Given the description of an element on the screen output the (x, y) to click on. 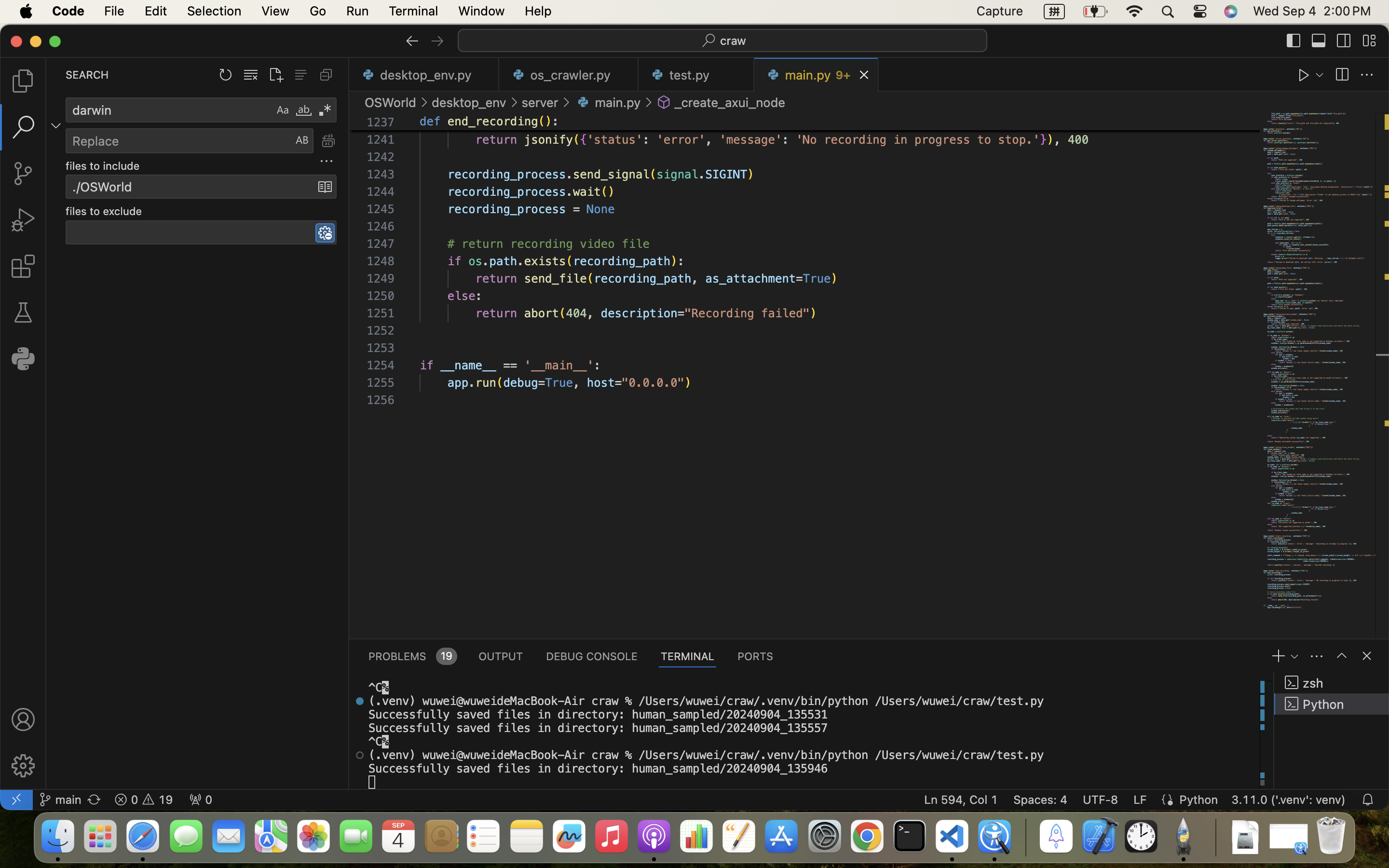
 Element type: AXButton (1369, 40)
 Element type: AXButton (1341, 74)
 Element type: AXStaticText (55, 125)
1 main.py   9+ Element type: AXRadioButton (816, 74)
